Given the description of an element on the screen output the (x, y) to click on. 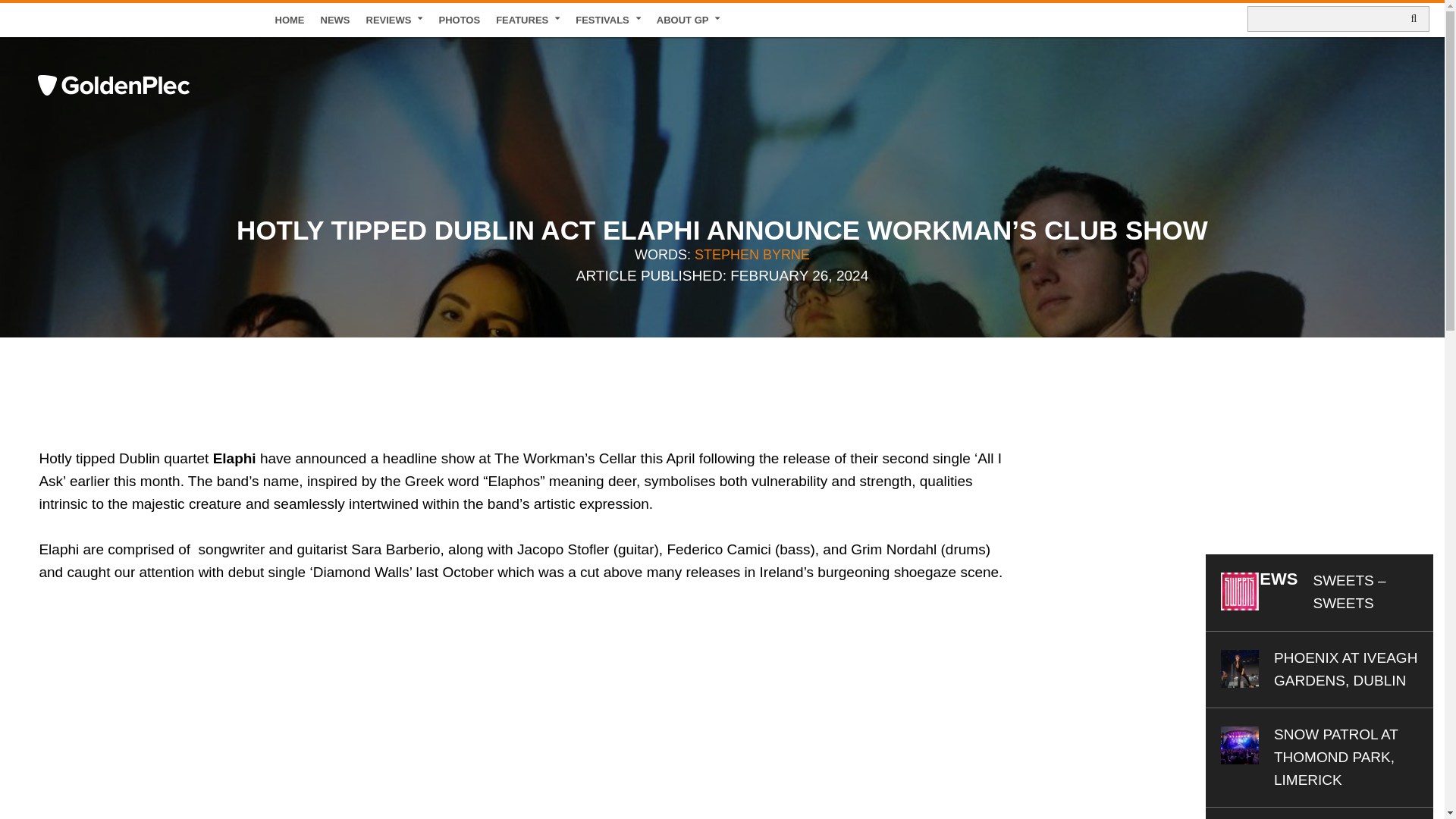
FEATURES (527, 19)
FESTIVALS (608, 19)
HOME (289, 19)
PHOTOS (458, 19)
ABOUT GP (689, 19)
Diamond Walls (228, 712)
NEWS (335, 19)
REVIEWS (394, 19)
